Given the description of an element on the screen output the (x, y) to click on. 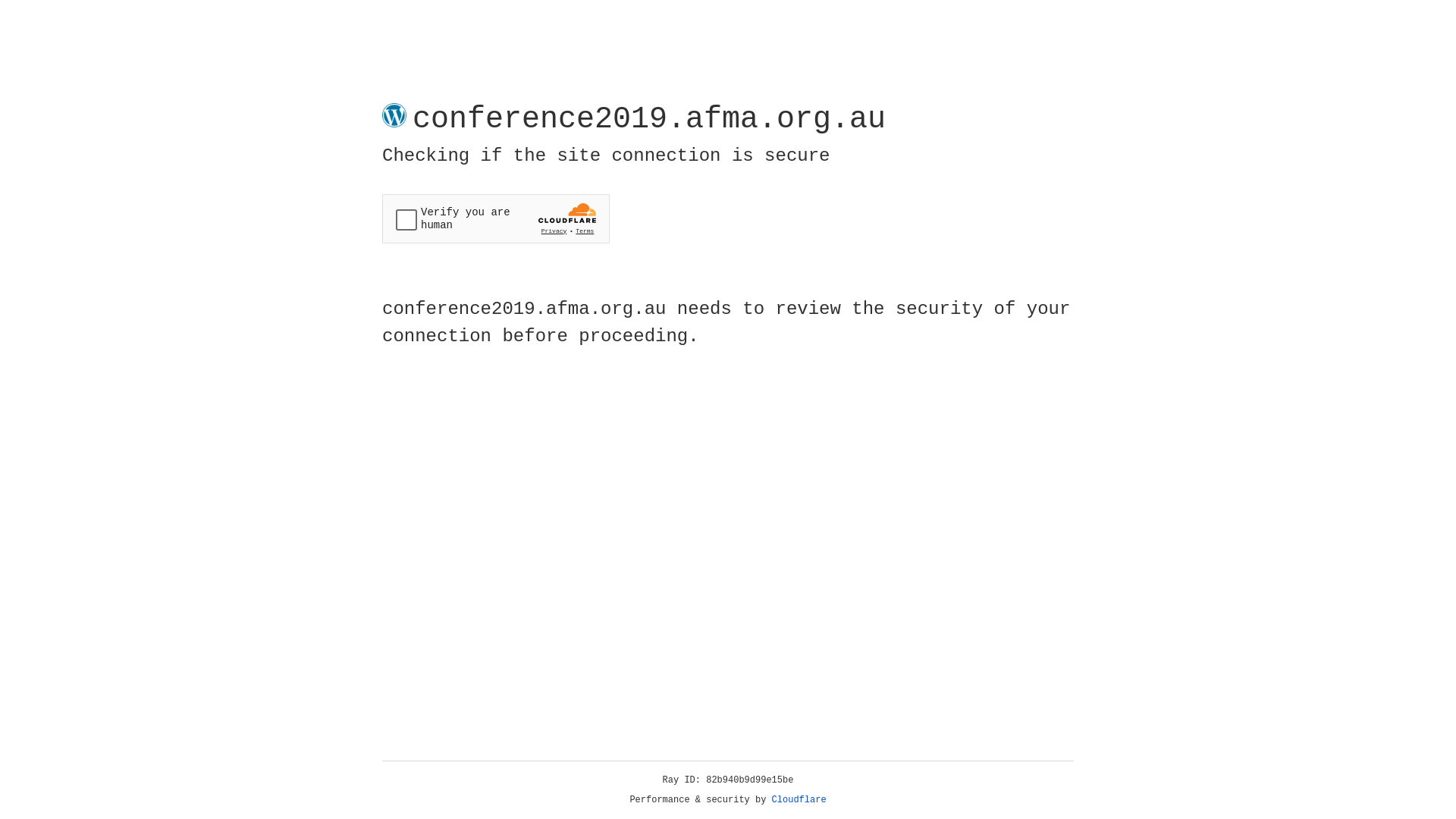
Cloudflare Element type: text (798, 799)
Widget containing a Cloudflare security challenge Element type: hover (495, 218)
